Given the description of an element on the screen output the (x, y) to click on. 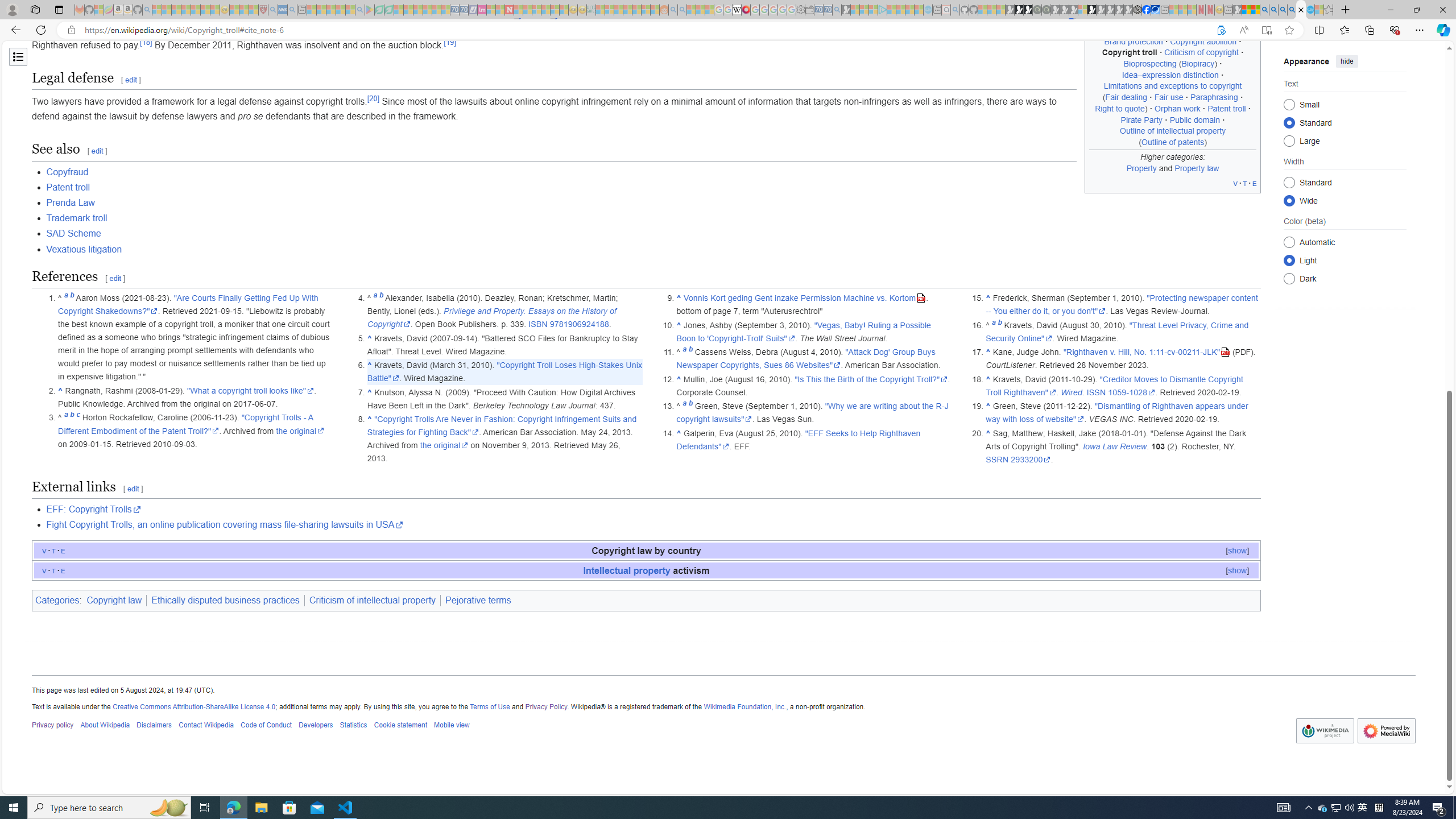
Statistics (352, 725)
[20] (373, 98)
Paraphrasing (1214, 97)
Criticism of copyright (1201, 52)
Privilege and Property. Essays on the History of Copyright (490, 317)
Favorites - Sleeping (1328, 9)
Fair dealing (1126, 97)
